Given the description of an element on the screen output the (x, y) to click on. 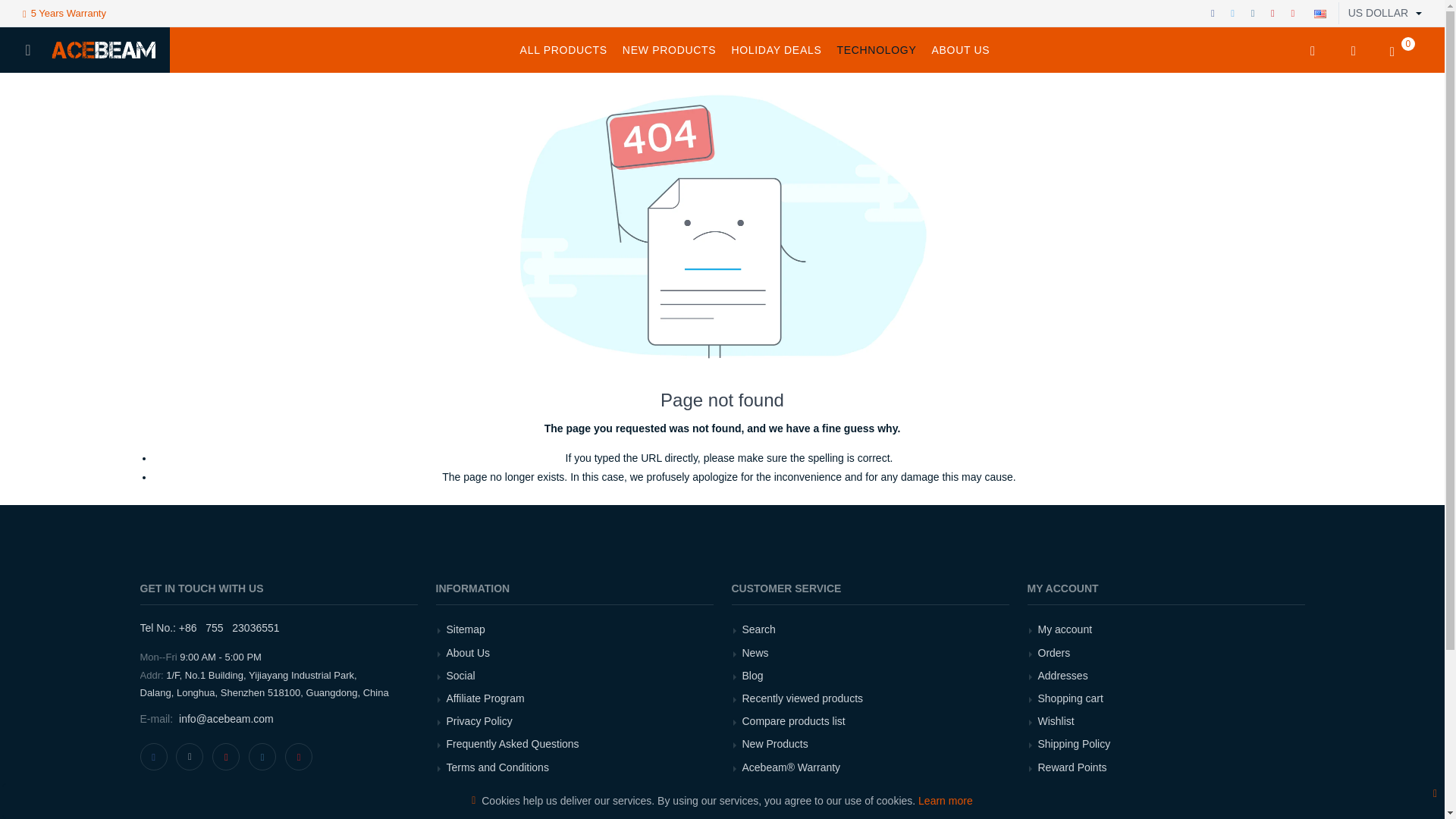
ALL PRODUCTS (563, 49)
HOLIDAY DEALS (775, 49)
NEW PRODUCTS (668, 49)
ABOUT US (960, 49)
TECHNOLOGY (875, 49)
